Given the description of an element on the screen output the (x, y) to click on. 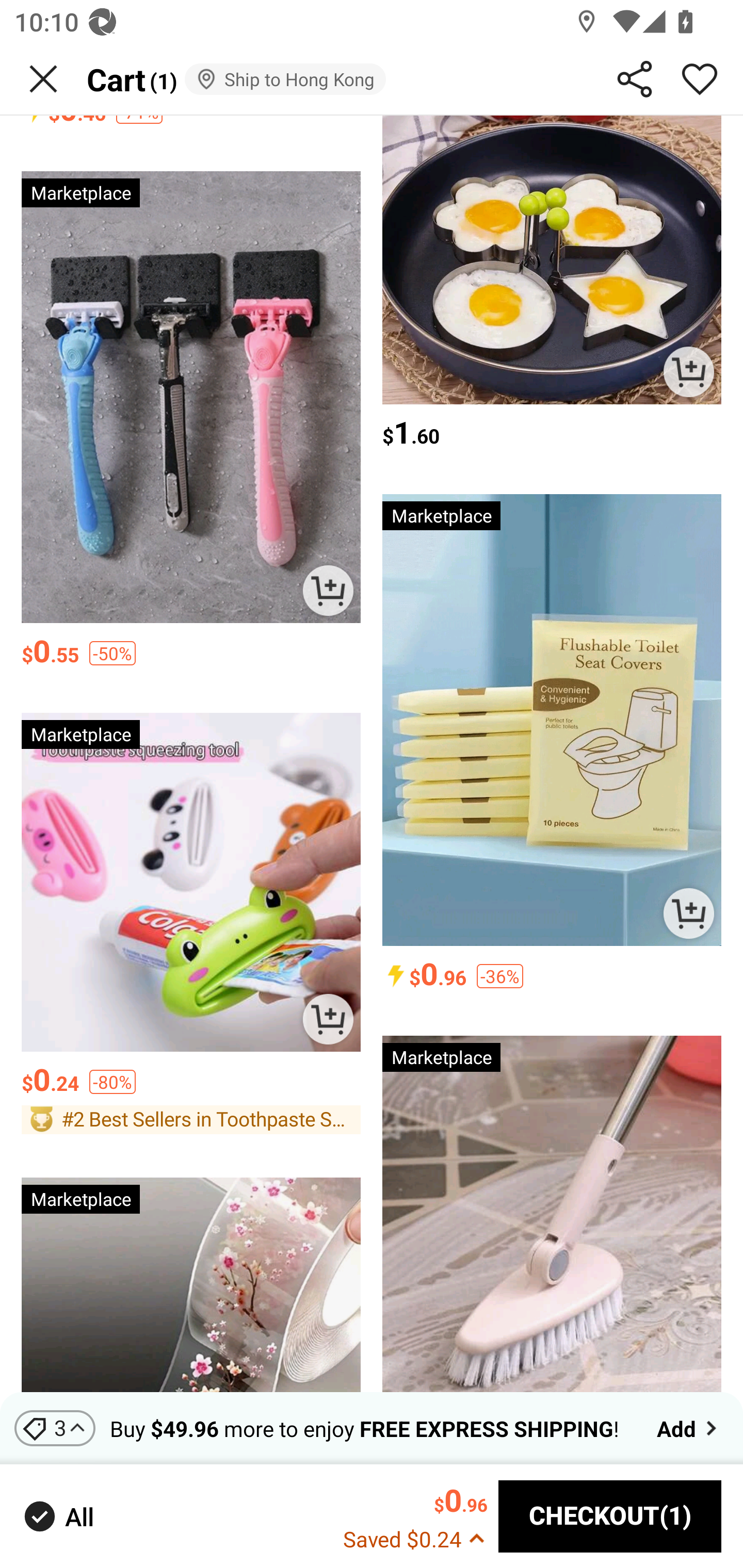
BACK (43, 78)
Wishlist (699, 78)
Share (634, 79)
Ship to Hong Kong (285, 78)
ADD TO CART (688, 371)
ADD TO CART (327, 590)
ADD TO CART (688, 913)
ADD TO CART (327, 1019)
3 (54, 1428)
Add (688, 1428)
CHECKOUT(1) (609, 1516)
All (57, 1517)
